Given the description of an element on the screen output the (x, y) to click on. 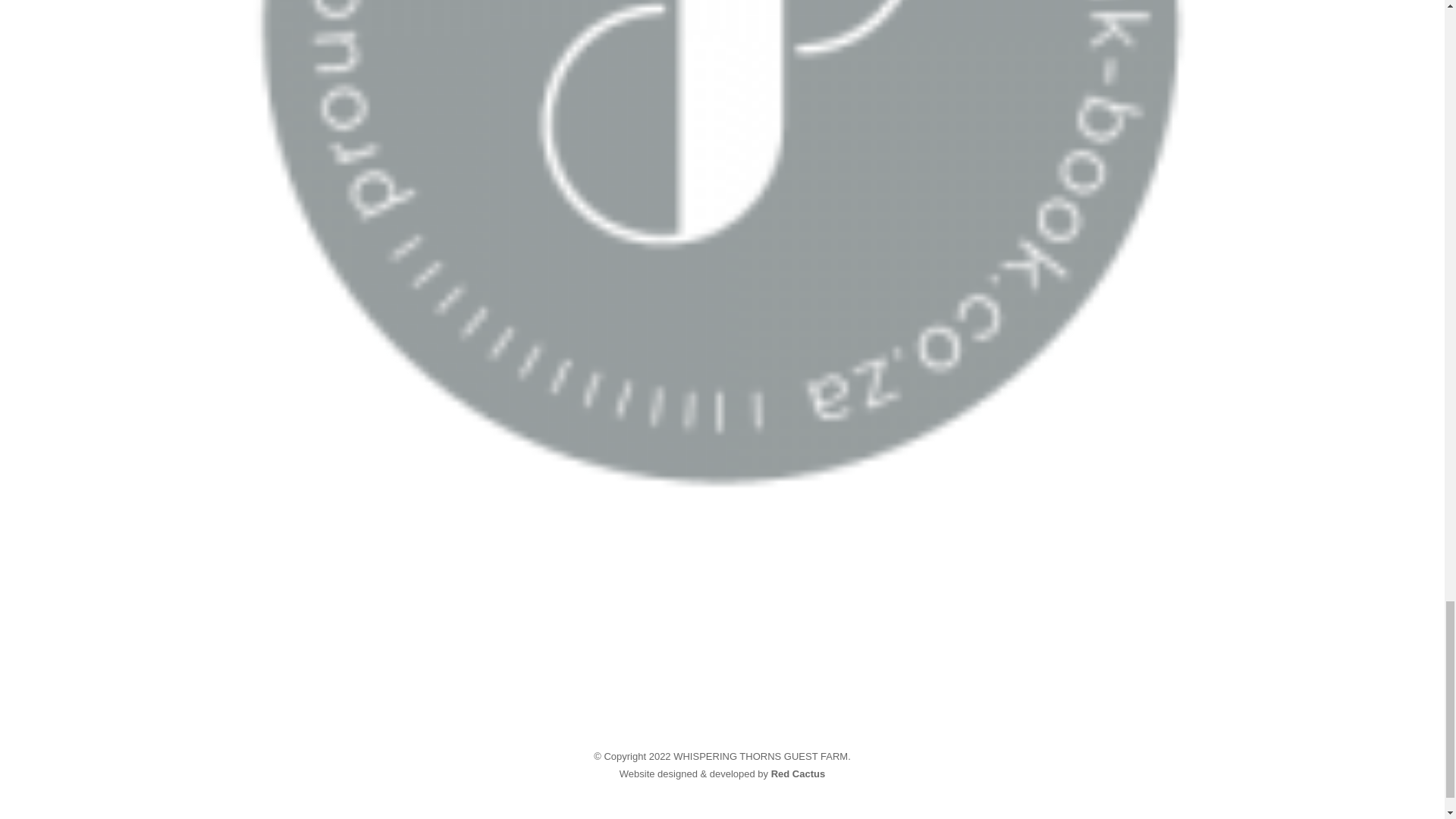
Red Cactus (798, 773)
